Given the description of an element on the screen output the (x, y) to click on. 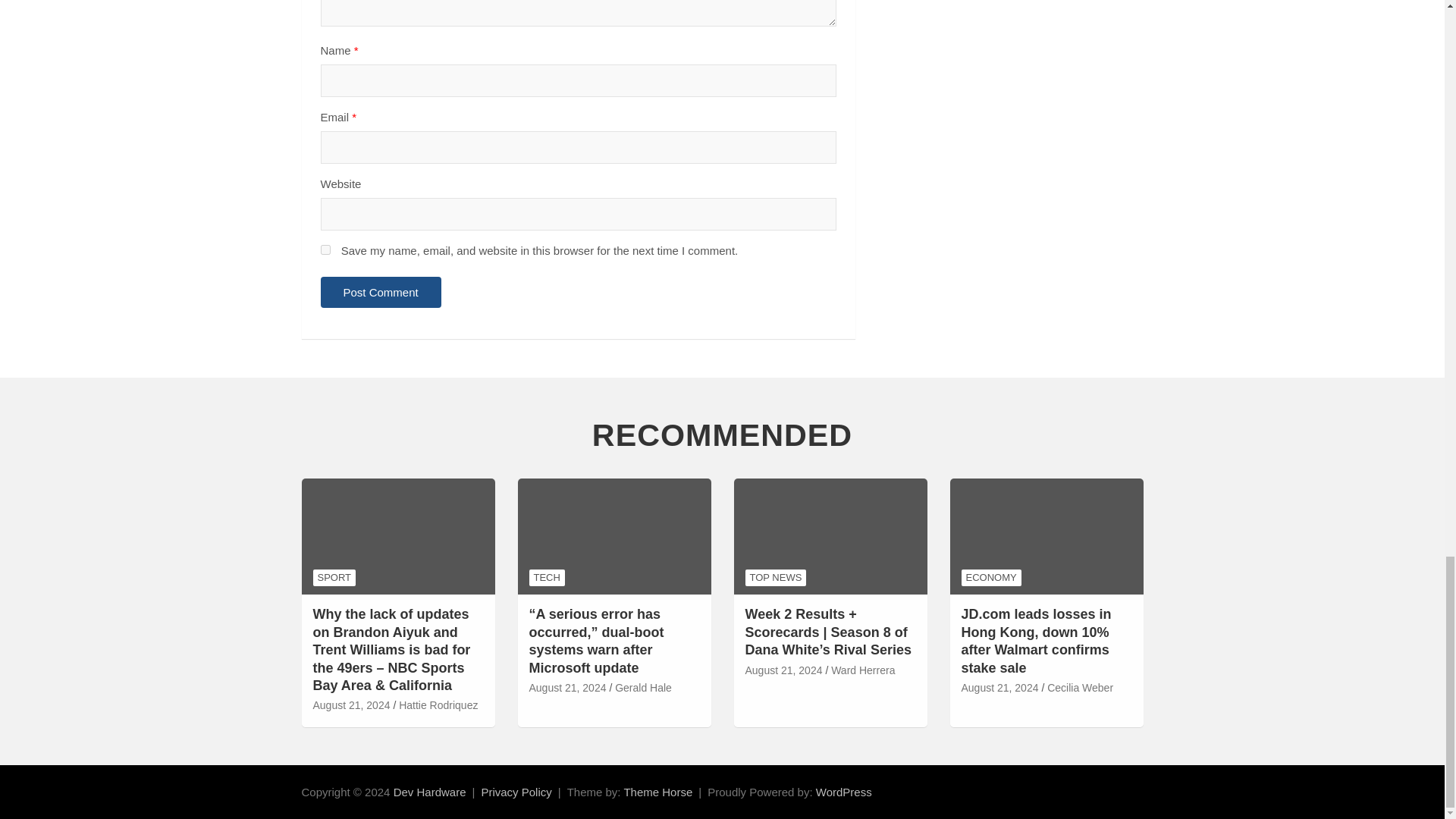
SPORT (334, 577)
Hattie Rodriquez (437, 705)
yes (325, 249)
August 21, 2024 (351, 705)
WordPress (843, 791)
Dev Hardware (429, 791)
Post Comment (380, 291)
Post Comment (380, 291)
Theme Horse (658, 791)
